Given the description of an element on the screen output the (x, y) to click on. 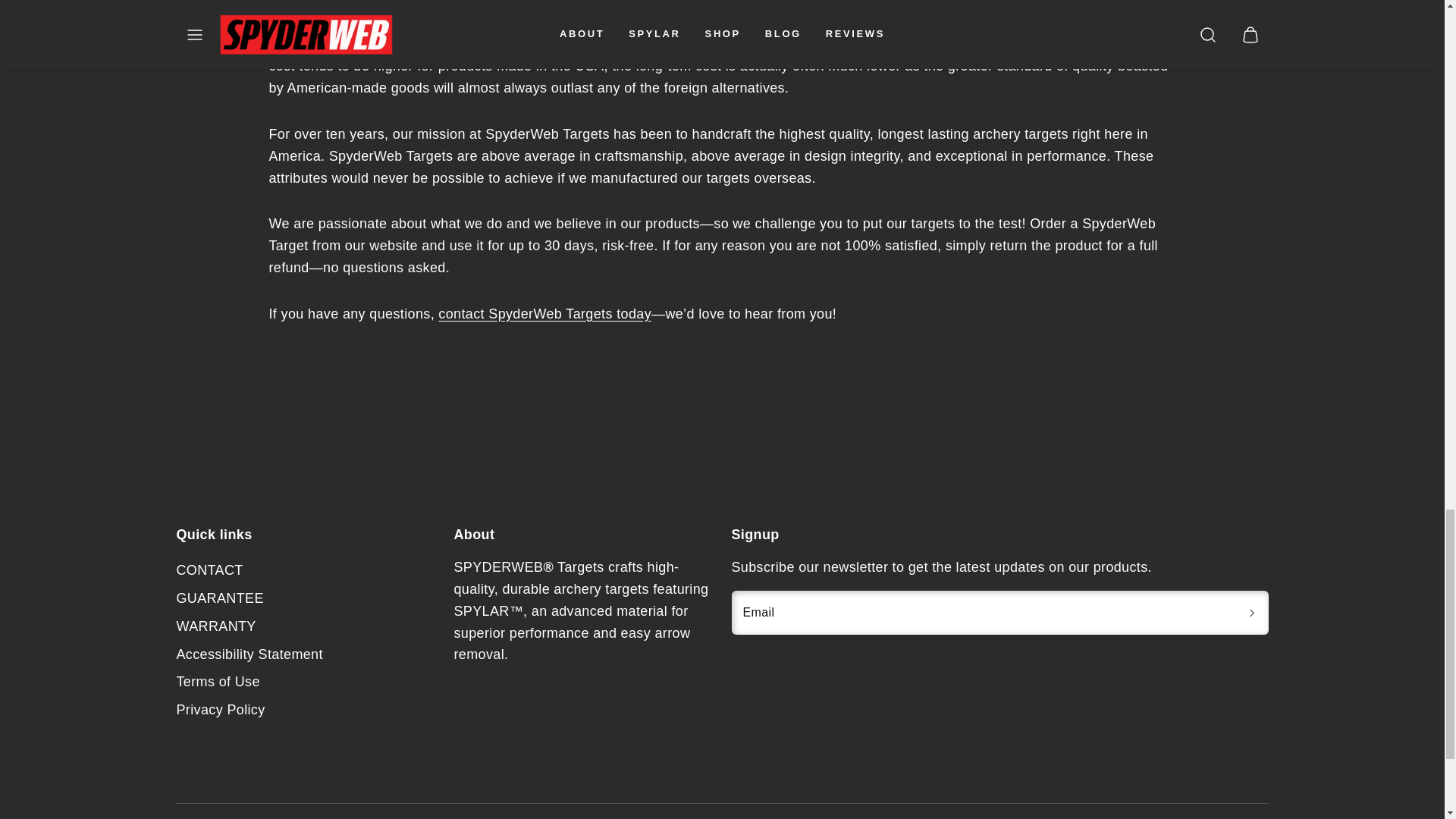
contact SpyderWeb Targets today (544, 313)
GUARANTEE (219, 598)
contact SpyderWeb Targets today (544, 313)
CONTACT (209, 570)
Accessibility Statement (248, 654)
WARRANTY (216, 626)
Terms of Use (217, 682)
Privacy Policy (220, 709)
